Given the description of an element on the screen output the (x, y) to click on. 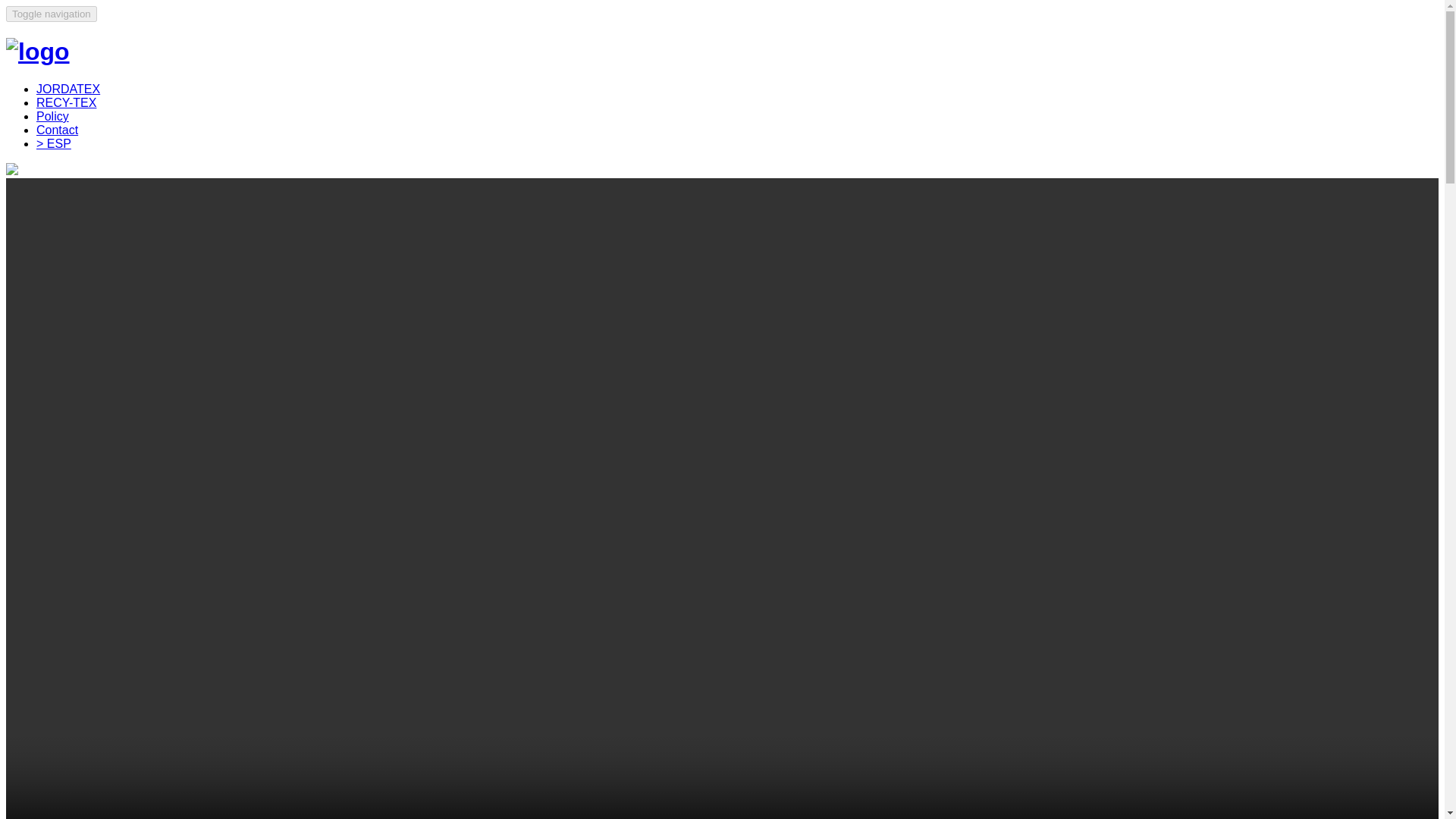
Policy (52, 115)
Toggle navigation (51, 13)
RECY-TEX (66, 102)
JORDATEX (68, 88)
Contact (57, 129)
